Given the description of an element on the screen output the (x, y) to click on. 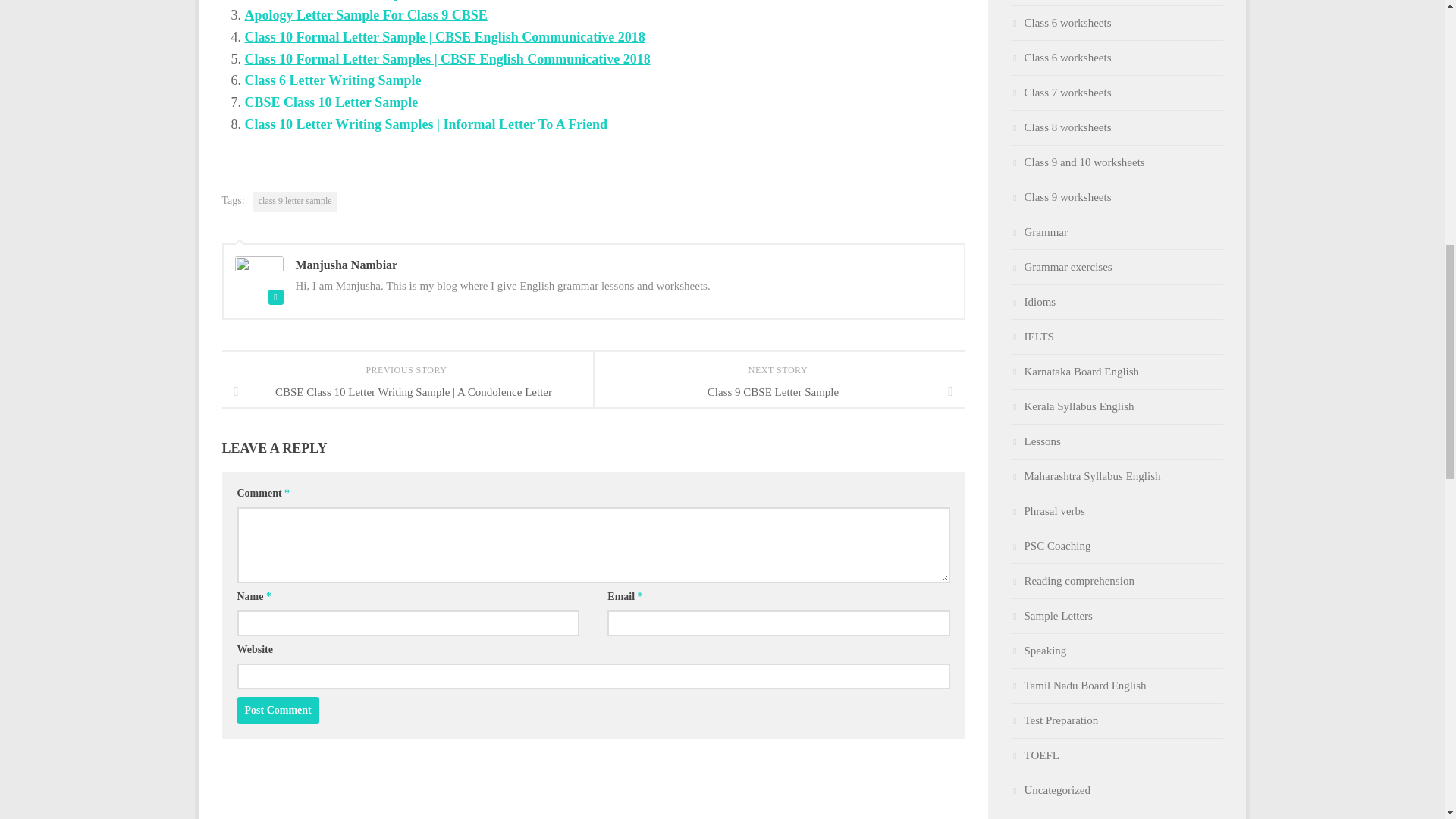
Class 6 Letter Writing Sample (332, 79)
CBSE Class 10 Letter Sample (330, 102)
Apology Letter Sample For Class 9 CBSE (365, 14)
Post Comment (276, 709)
